Given the description of an element on the screen output the (x, y) to click on. 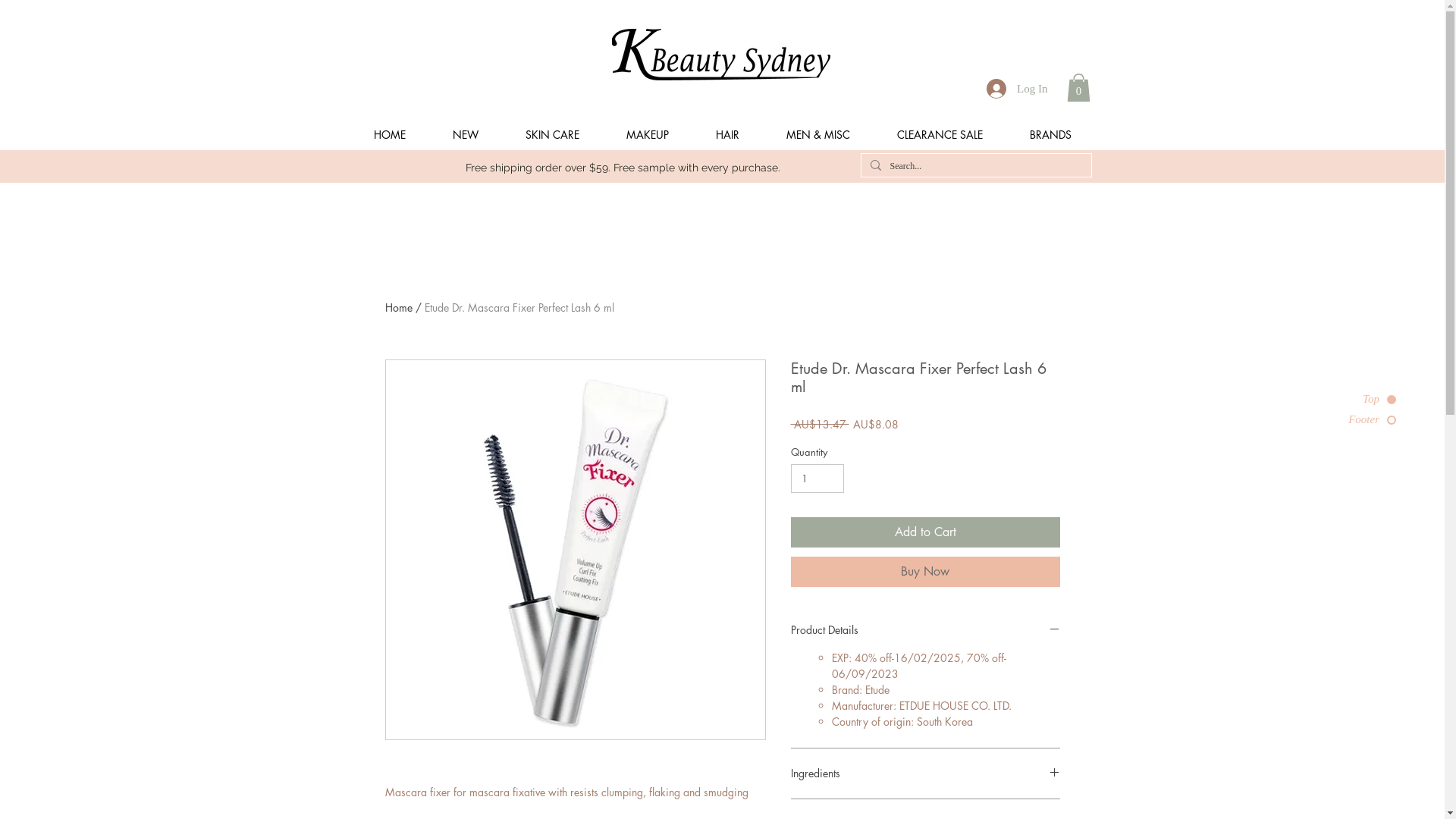
logo.png Element type: hover (720, 54)
NEW Element type: text (465, 134)
Footer Element type: text (1356, 419)
0 Element type: text (1077, 87)
Ingredients Element type: text (924, 773)
Log In Element type: text (1016, 88)
Top Element type: text (1356, 399)
Buy Now Element type: text (924, 571)
Product Details Element type: text (924, 630)
CLEARANCE SALE Element type: text (939, 134)
Etude Dr. Mascara Fixer Perfect Lash 6 ml Element type: text (519, 307)
MEN & MISC Element type: text (817, 134)
HOME Element type: text (389, 134)
HAIR Element type: text (726, 134)
Add to Cart Element type: text (924, 532)
Home Element type: text (398, 307)
